Given the description of an element on the screen output the (x, y) to click on. 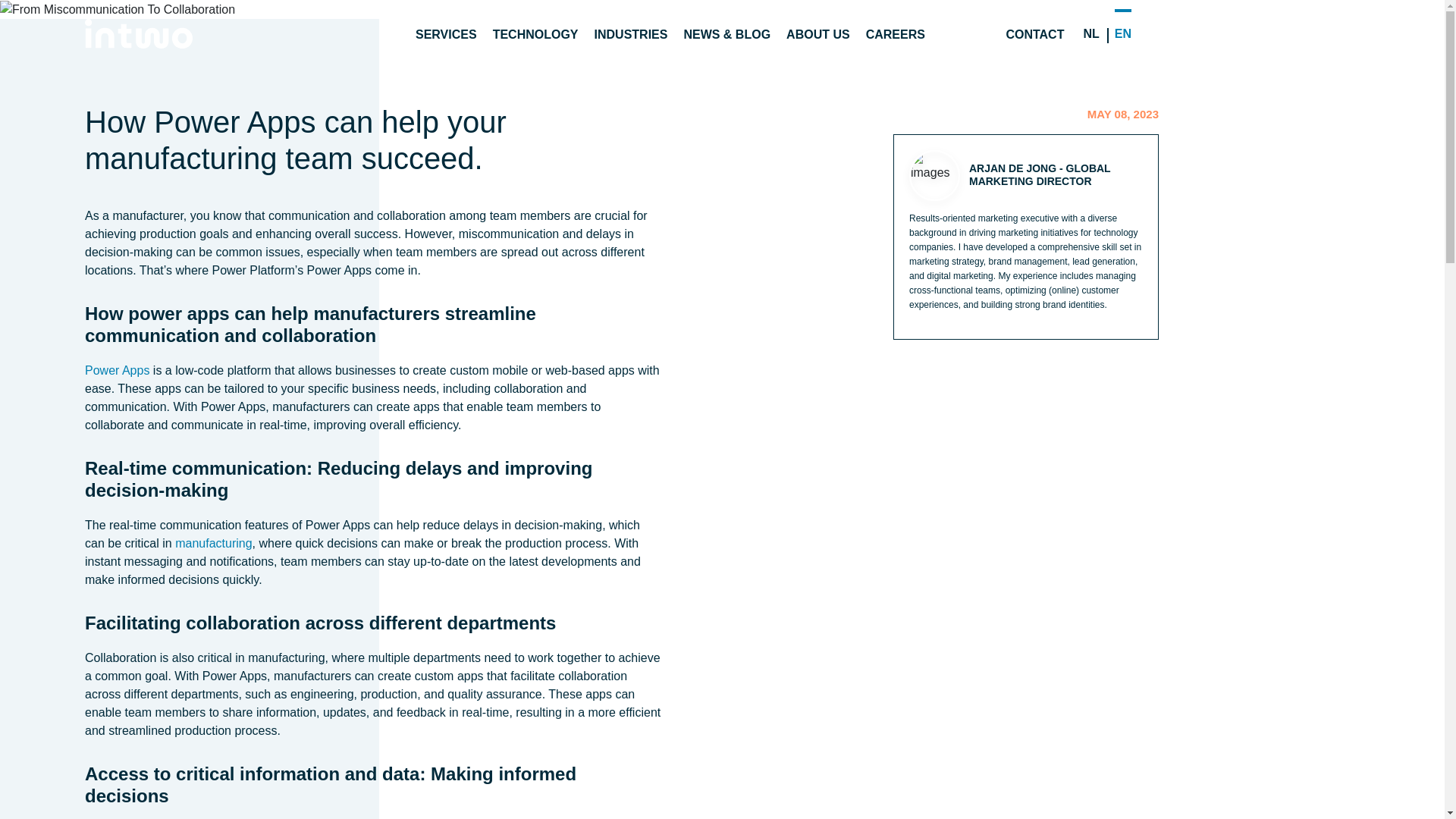
INDUSTRIES (631, 33)
SERVICES (445, 33)
TECHNOLOGY (535, 33)
